Given the description of an element on the screen output the (x, y) to click on. 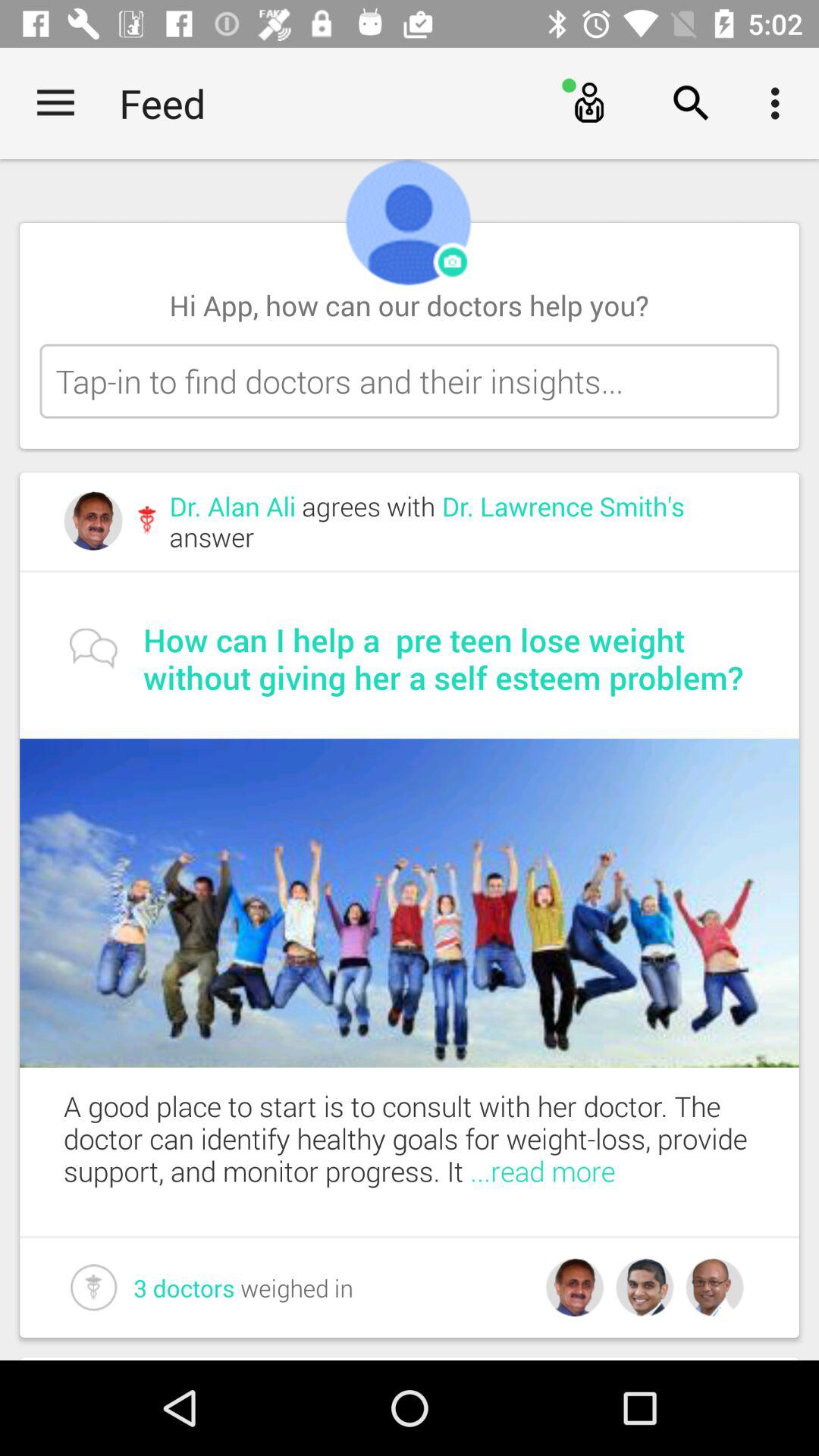
flip to the a good place (431, 1138)
